Given the description of an element on the screen output the (x, y) to click on. 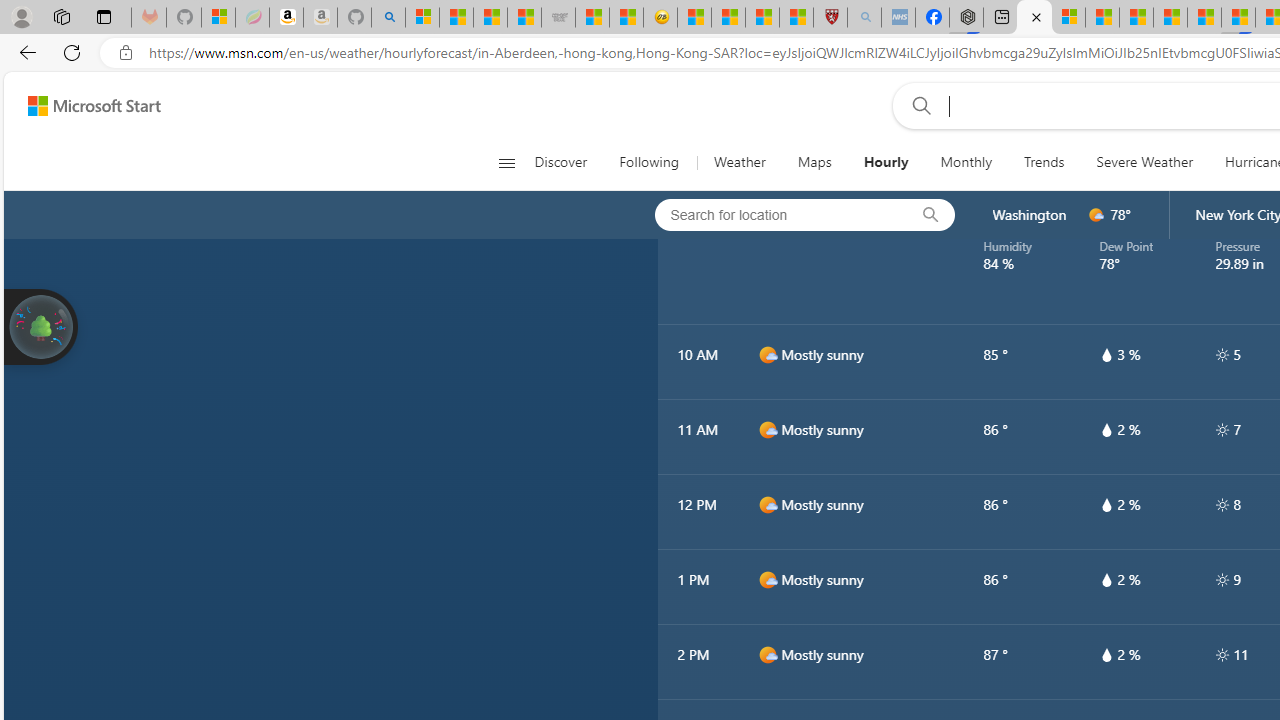
12 Popular Science Lies that Must be Corrected (795, 17)
Class: button-glyph (505, 162)
Robert H. Shmerling, MD - Harvard Health (830, 17)
Trends (1044, 162)
Severe Weather (1144, 162)
Search for location (775, 214)
